Given the description of an element on the screen output the (x, y) to click on. 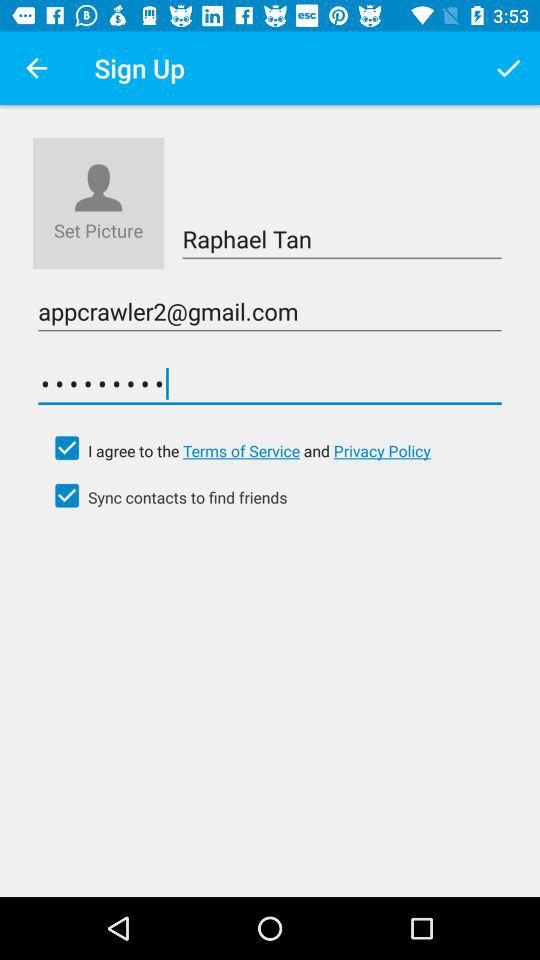
agree click (67, 448)
